Given the description of an element on the screen output the (x, y) to click on. 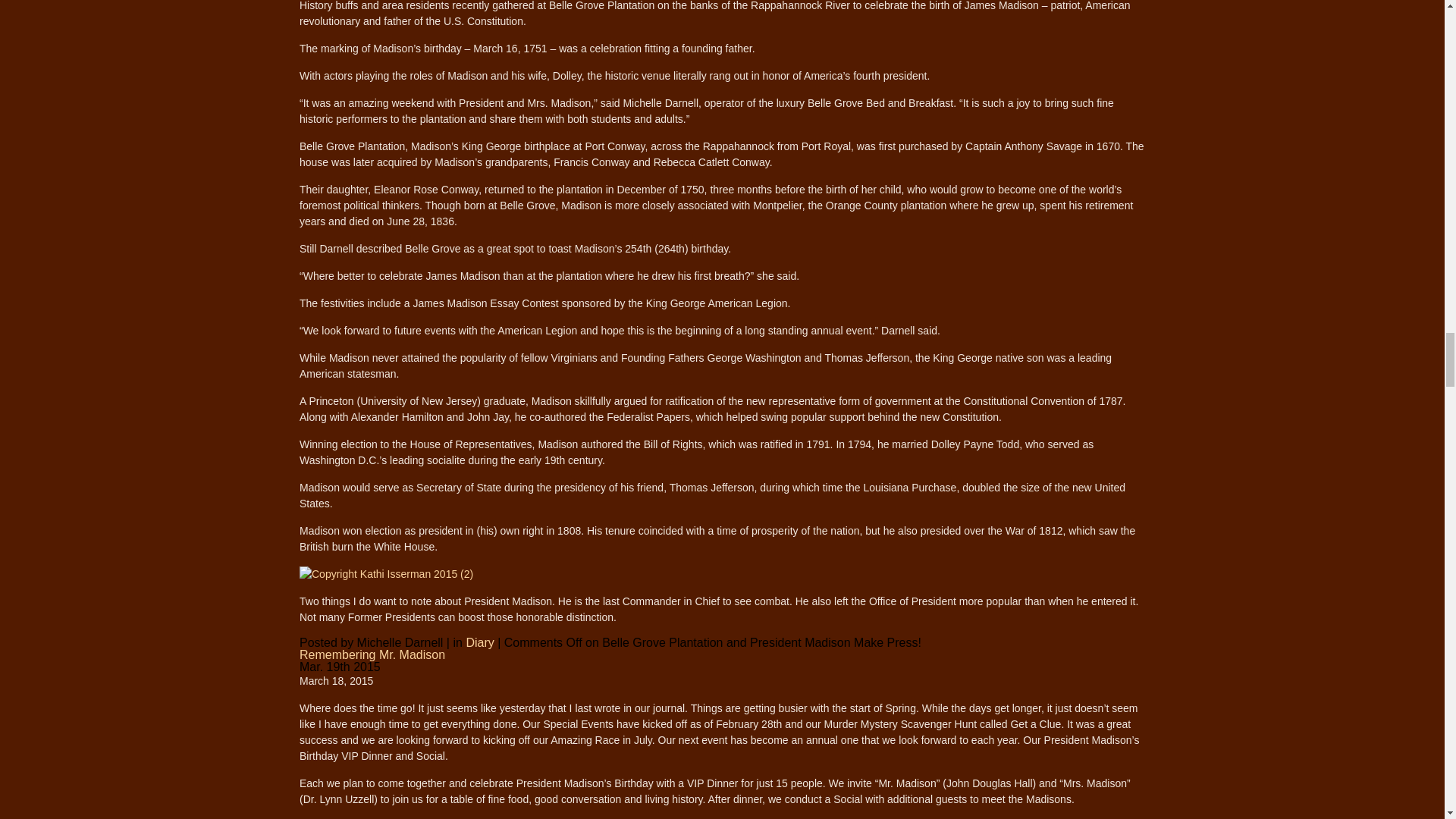
Remembering Mr. Madison (372, 654)
Diary (479, 642)
Permanent Link to Remembering Mr. Madison (372, 654)
